Given the description of an element on the screen output the (x, y) to click on. 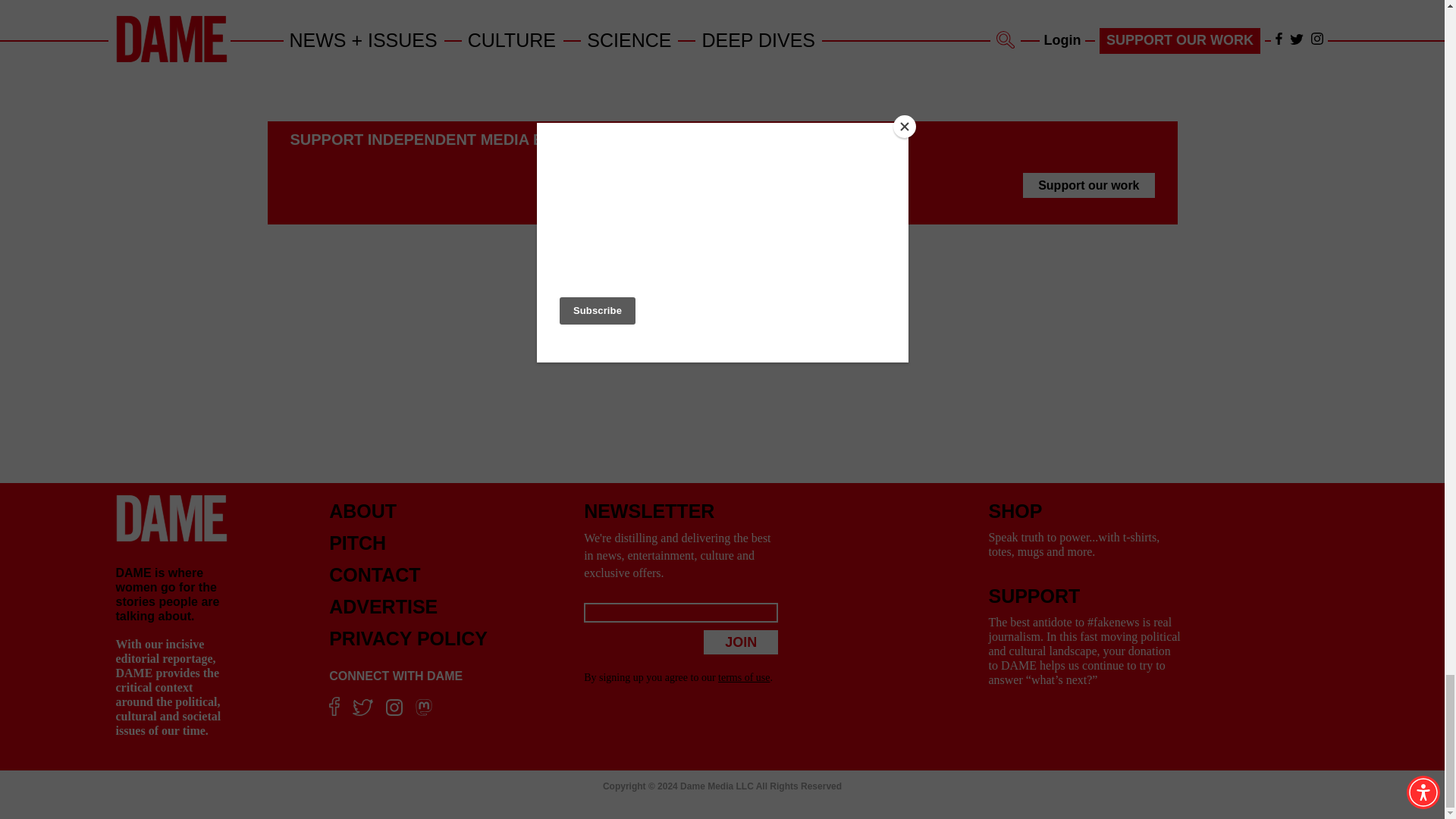
Twitter (362, 707)
DAME (171, 518)
Twitter (599, 6)
Join (740, 641)
Email (638, 6)
Instagram (394, 707)
Share (676, 6)
